Given the description of an element on the screen output the (x, y) to click on. 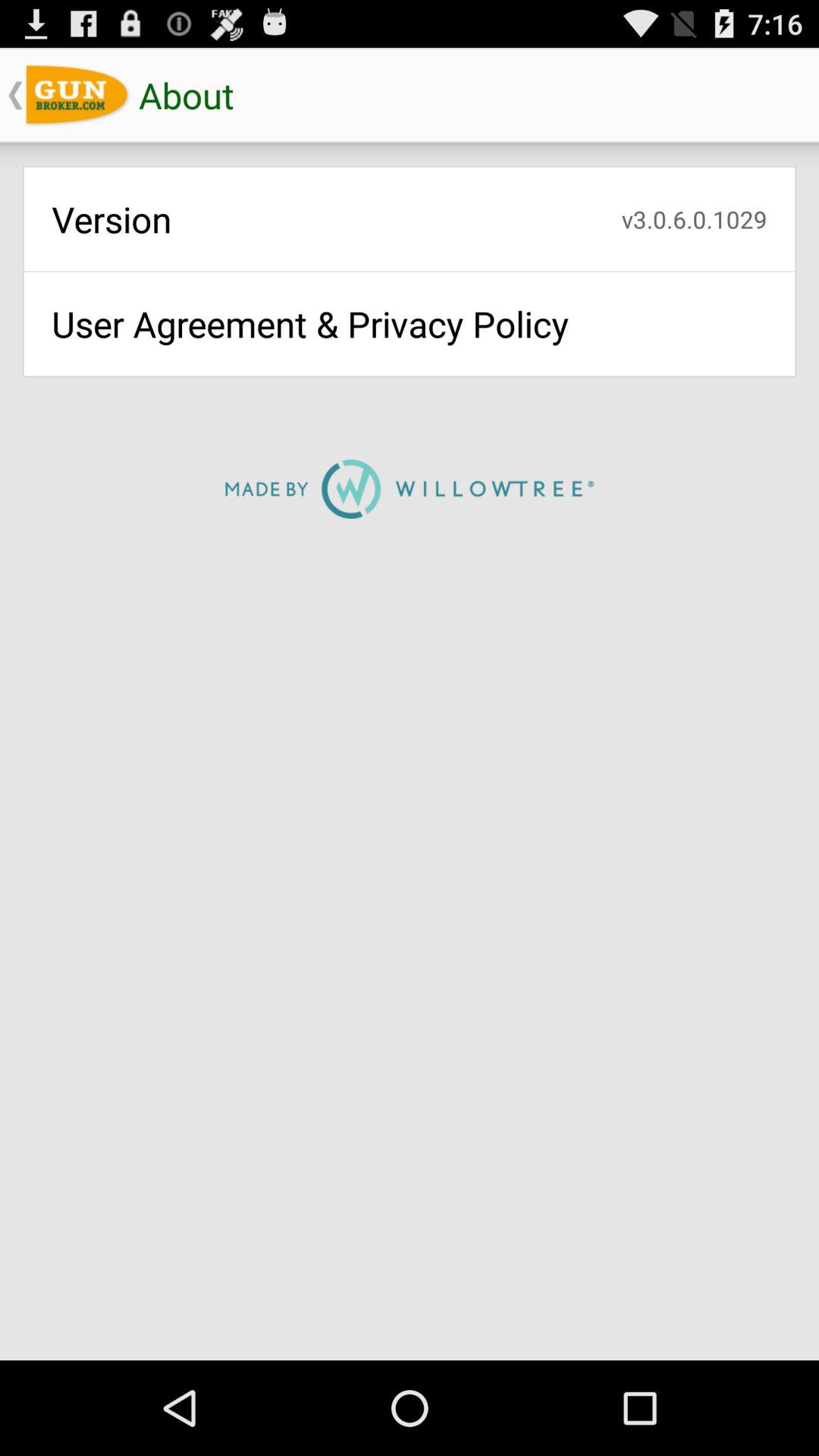
scroll until the user agreement privacy app (409, 323)
